Given the description of an element on the screen output the (x, y) to click on. 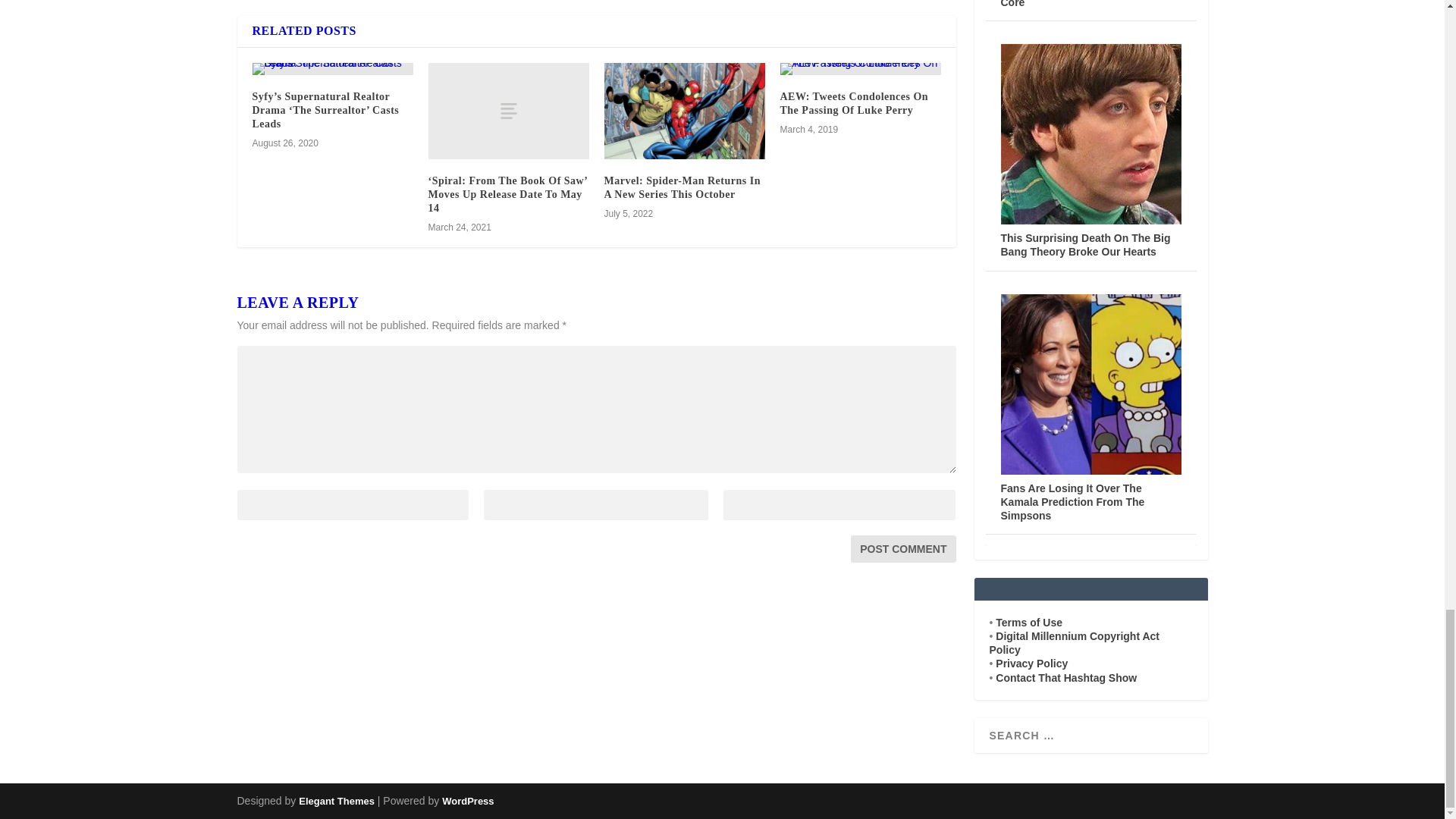
Post Comment (902, 548)
